Given the description of an element on the screen output the (x, y) to click on. 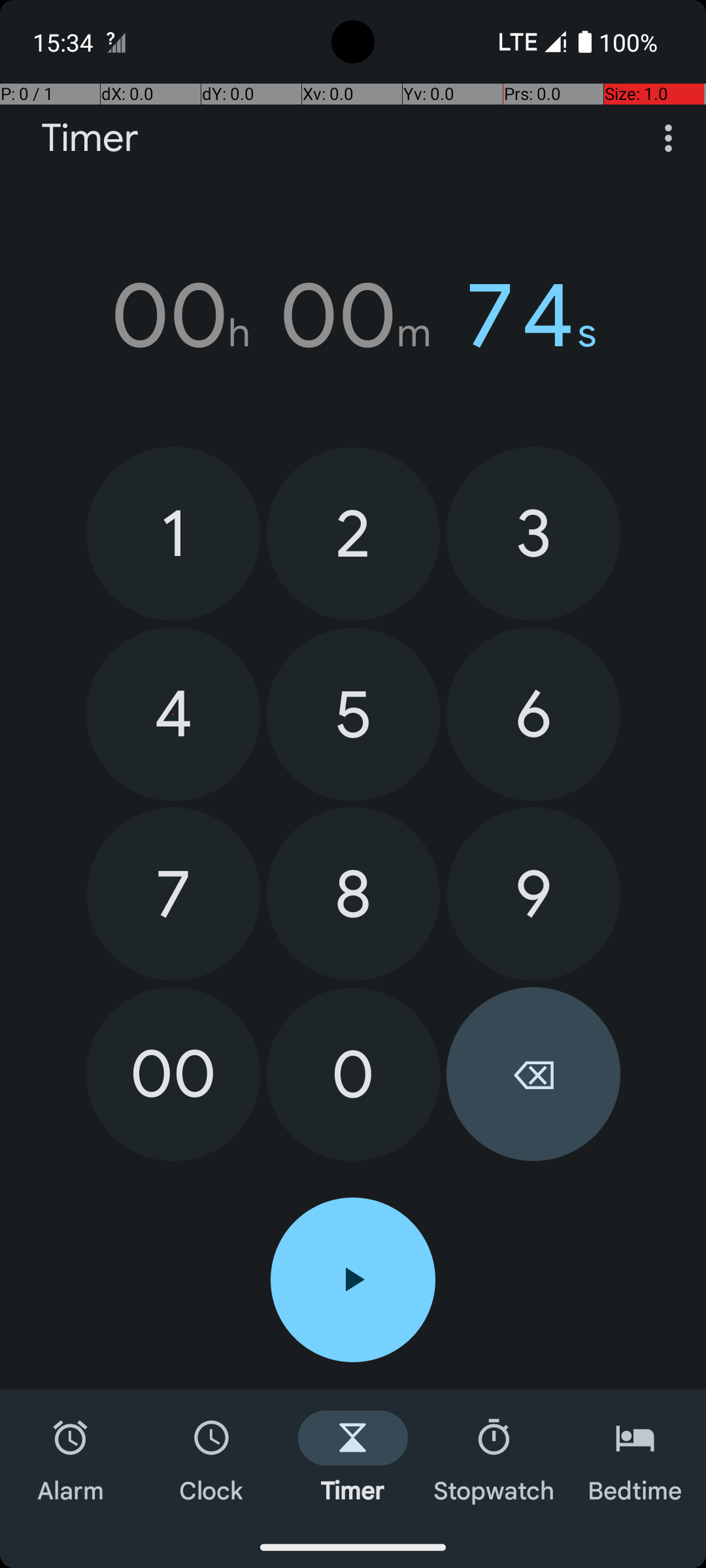
00h 00m 74s Element type: android.widget.TextView (353, 315)
